Given the description of an element on the screen output the (x, y) to click on. 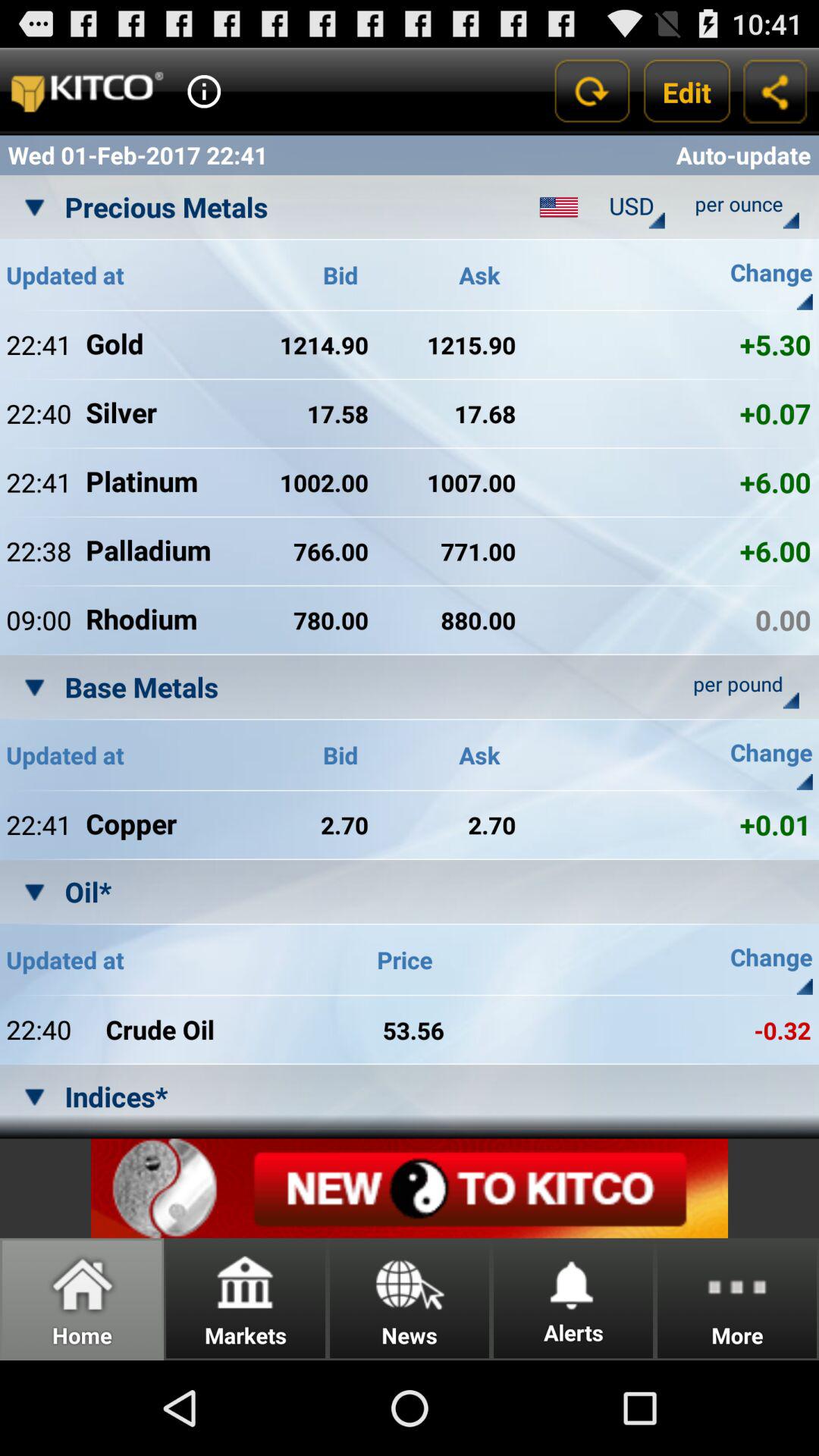
nueva aplicacion sobre la bolsa (409, 1188)
